Given the description of an element on the screen output the (x, y) to click on. 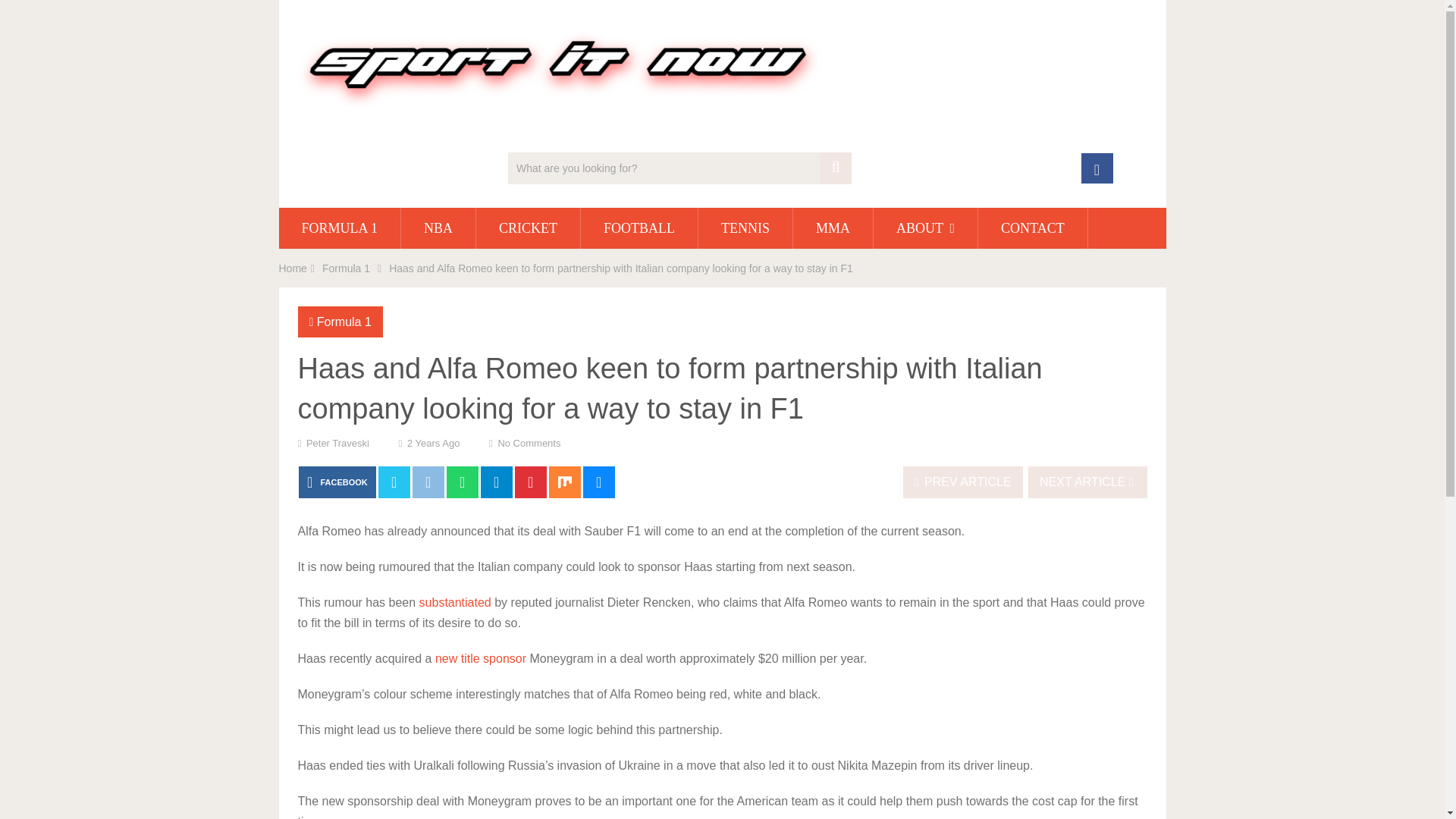
ABOUT (924, 228)
CRICKET (527, 228)
Formula 1 (345, 268)
Peter Traveski (337, 442)
FOOTBALL (638, 228)
MMA (832, 228)
FACEBOOK (336, 481)
NBA (438, 228)
Posts by Peter Traveski (337, 442)
Home (293, 268)
No Comments (528, 442)
TENNIS (745, 228)
CONTACT (1032, 228)
FORMULA 1 (340, 228)
new title sponsor (480, 658)
